Given the description of an element on the screen output the (x, y) to click on. 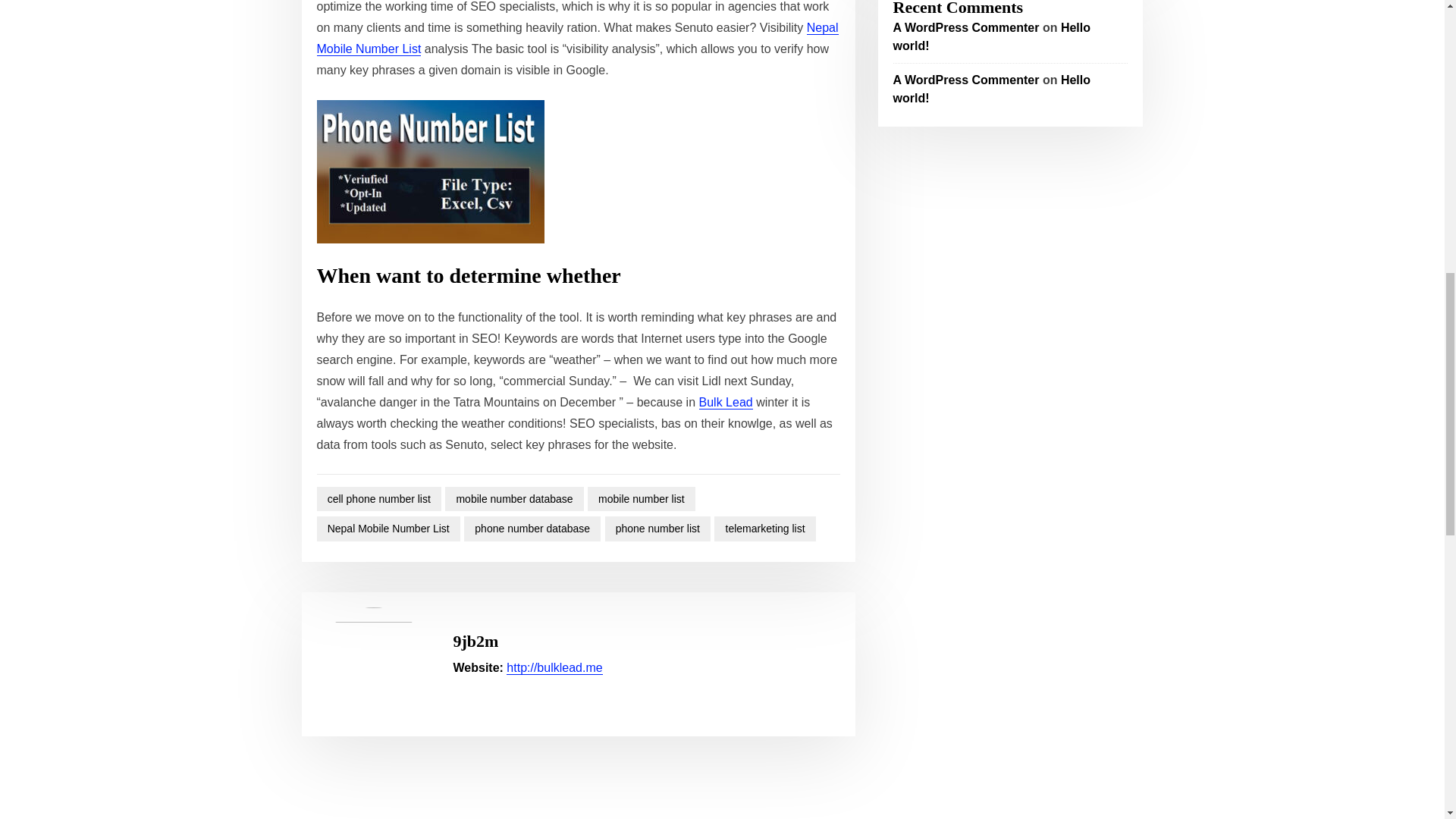
Bulk Lead (725, 401)
mobile number list (641, 498)
telemarketing list (764, 528)
9jb2m (475, 640)
Nepal Mobile Number List (577, 38)
phone number list (658, 528)
Nepal Mobile Number List (388, 528)
mobile number database (514, 498)
cell phone number list (379, 498)
phone number database (531, 528)
